Given the description of an element on the screen output the (x, y) to click on. 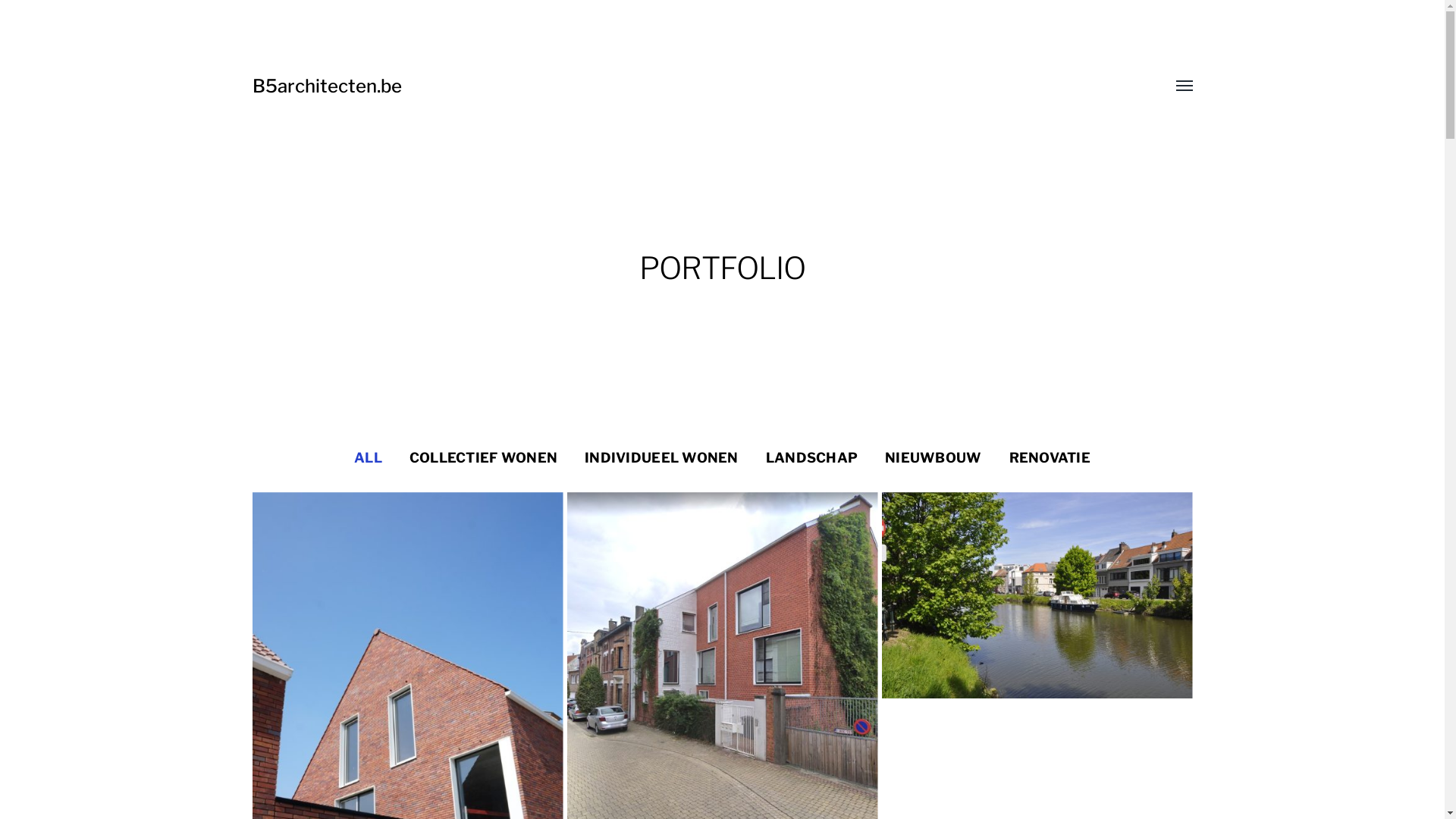
INDIVIDUEEL WONEN Element type: text (661, 457)
B5architecten.be Element type: text (326, 86)
NIEUWBOUW Element type: text (932, 457)
Wissel menu Element type: text (1173, 86)
ALL Element type: text (367, 457)
LANDSCHAP Element type: text (811, 457)
COLLECTIEF WONEN Element type: text (483, 457)
RENOVATIE Element type: text (1049, 457)
